Given the description of an element on the screen output the (x, y) to click on. 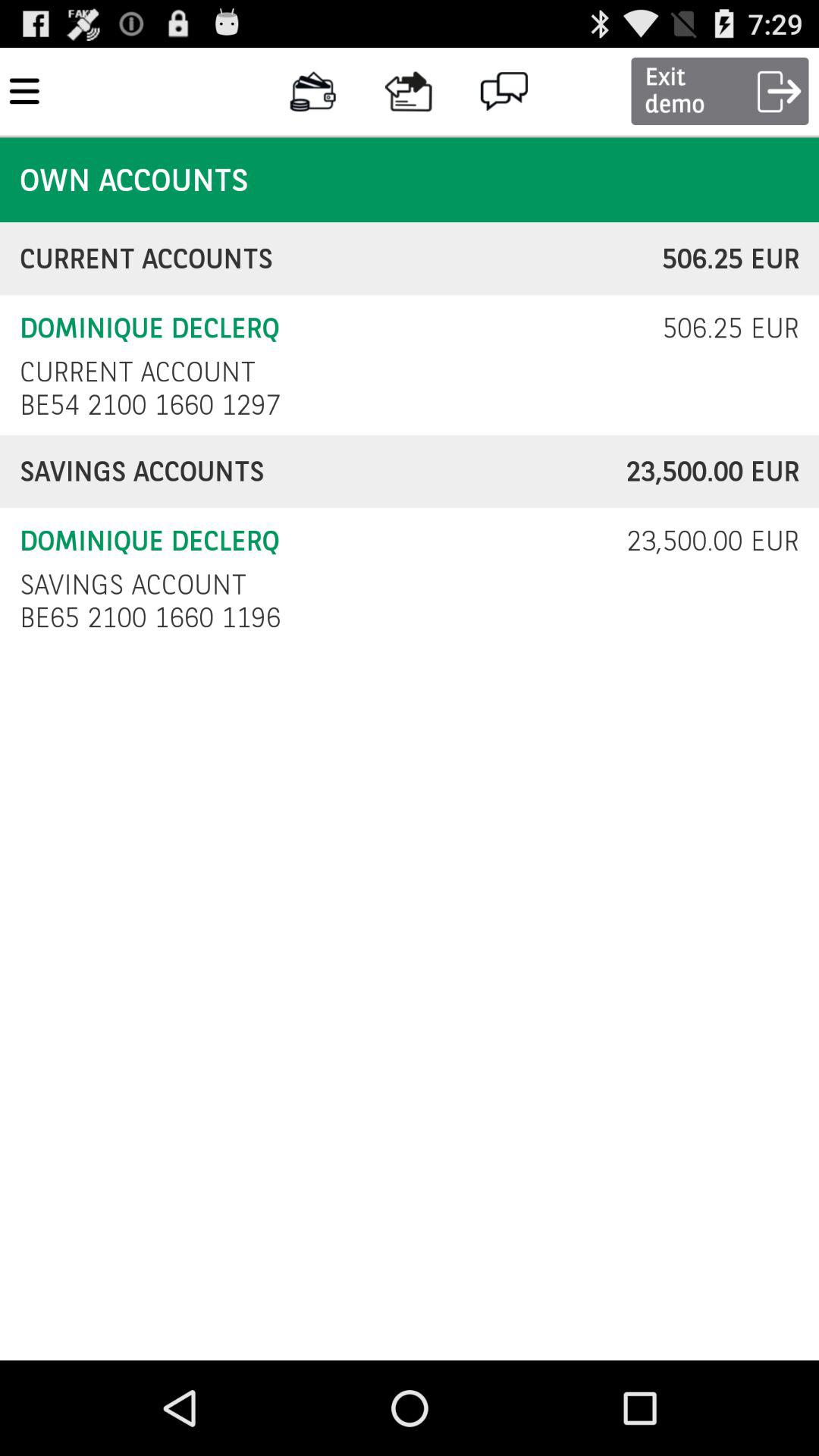
swipe to current account (137, 371)
